Given the description of an element on the screen output the (x, y) to click on. 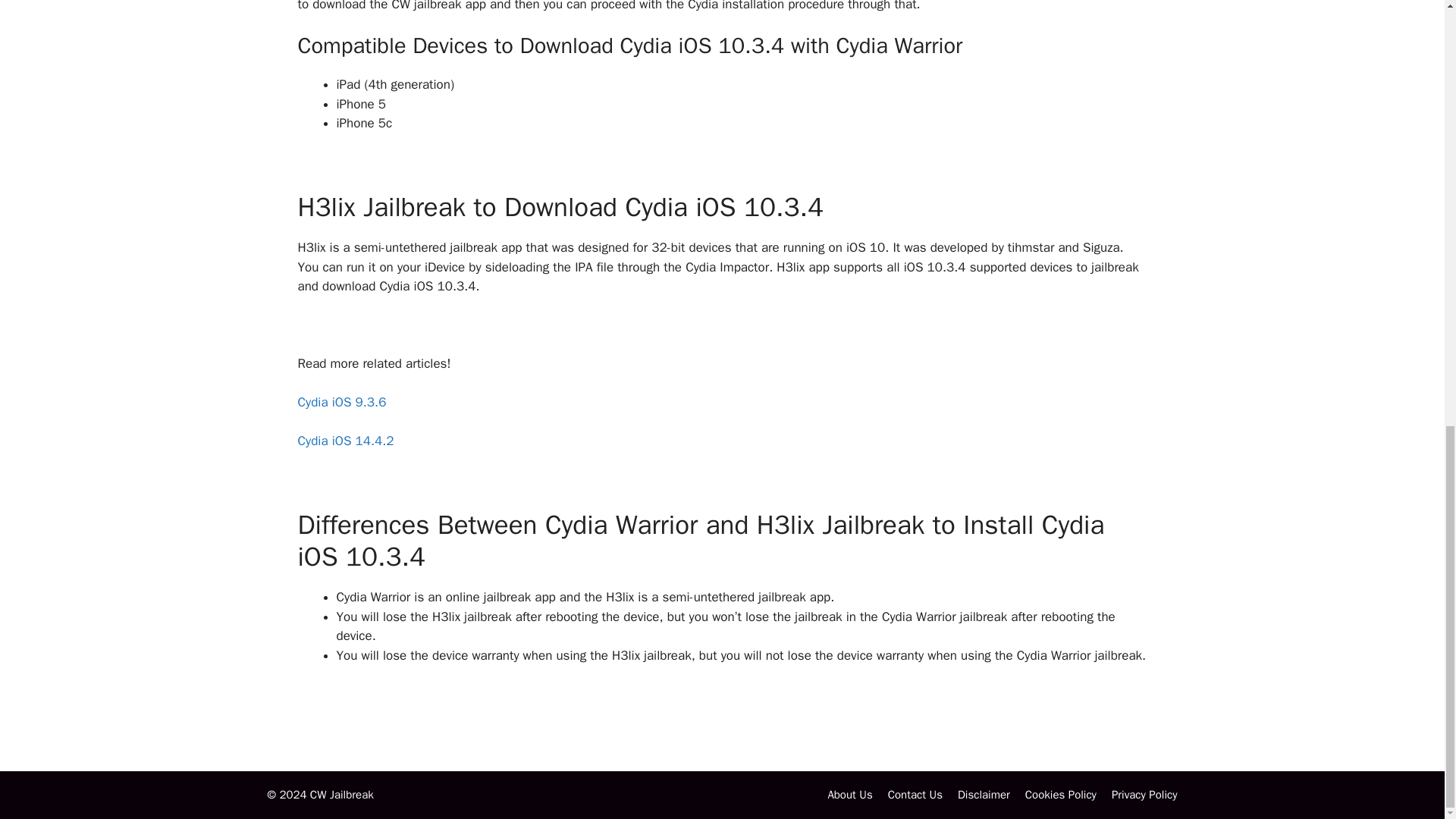
Cookies Policy (1060, 794)
Contact Us (915, 794)
Privacy Policy (1144, 794)
Disclaimer (984, 794)
Cydia iOS 14.4.2 (345, 440)
About Us (849, 794)
Cydia iOS 9.3.6 (341, 401)
